Given the description of an element on the screen output the (x, y) to click on. 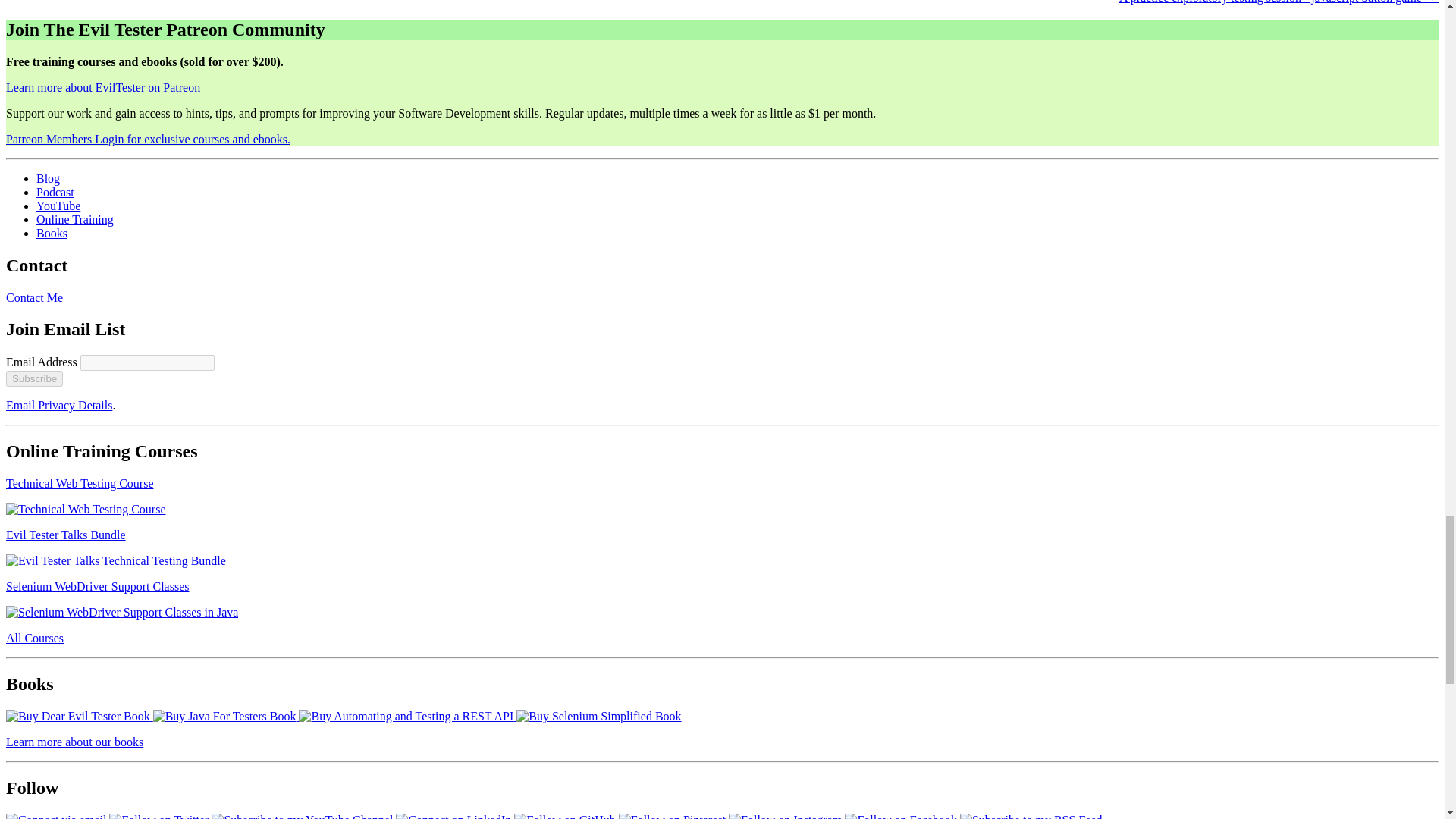
Facebook (900, 816)
Subscribe (33, 378)
Dear Evil Tester (78, 716)
Instagram (785, 816)
Selenium Simplified (598, 716)
Pinterest (671, 816)
Java For Testers (225, 716)
Linkedin (453, 816)
Automating and Testing a REST API (407, 716)
Twitter (158, 816)
